Given the description of an element on the screen output the (x, y) to click on. 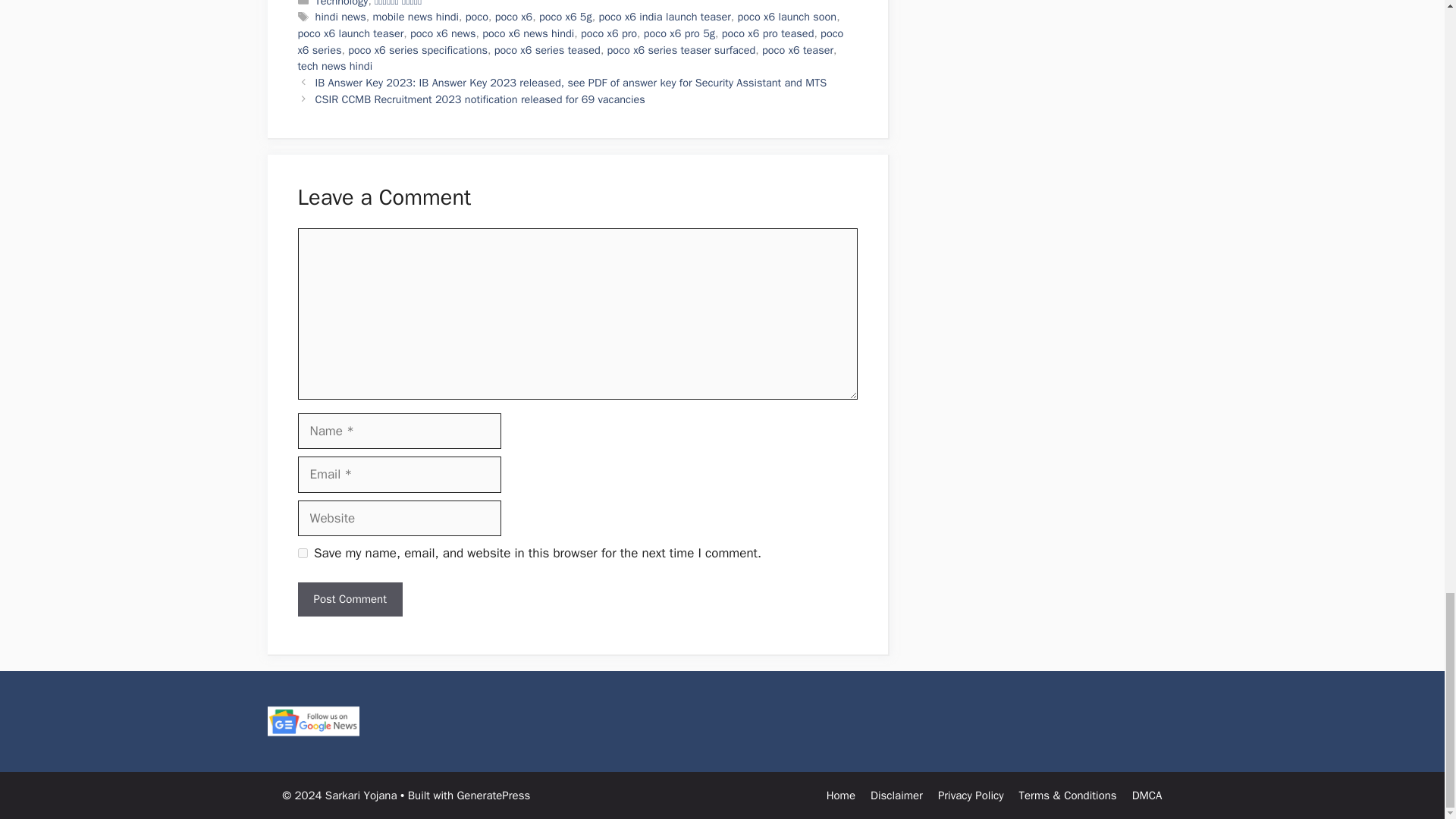
poco x6 5g (565, 16)
poco x6 series teaser surfaced (681, 49)
Post Comment (349, 599)
poco x6 pro teased (767, 33)
Technology (341, 3)
hindi news (340, 16)
poco x6 launch soon (787, 16)
poco x6 (513, 16)
Post Comment (349, 599)
poco (476, 16)
